Given the description of an element on the screen output the (x, y) to click on. 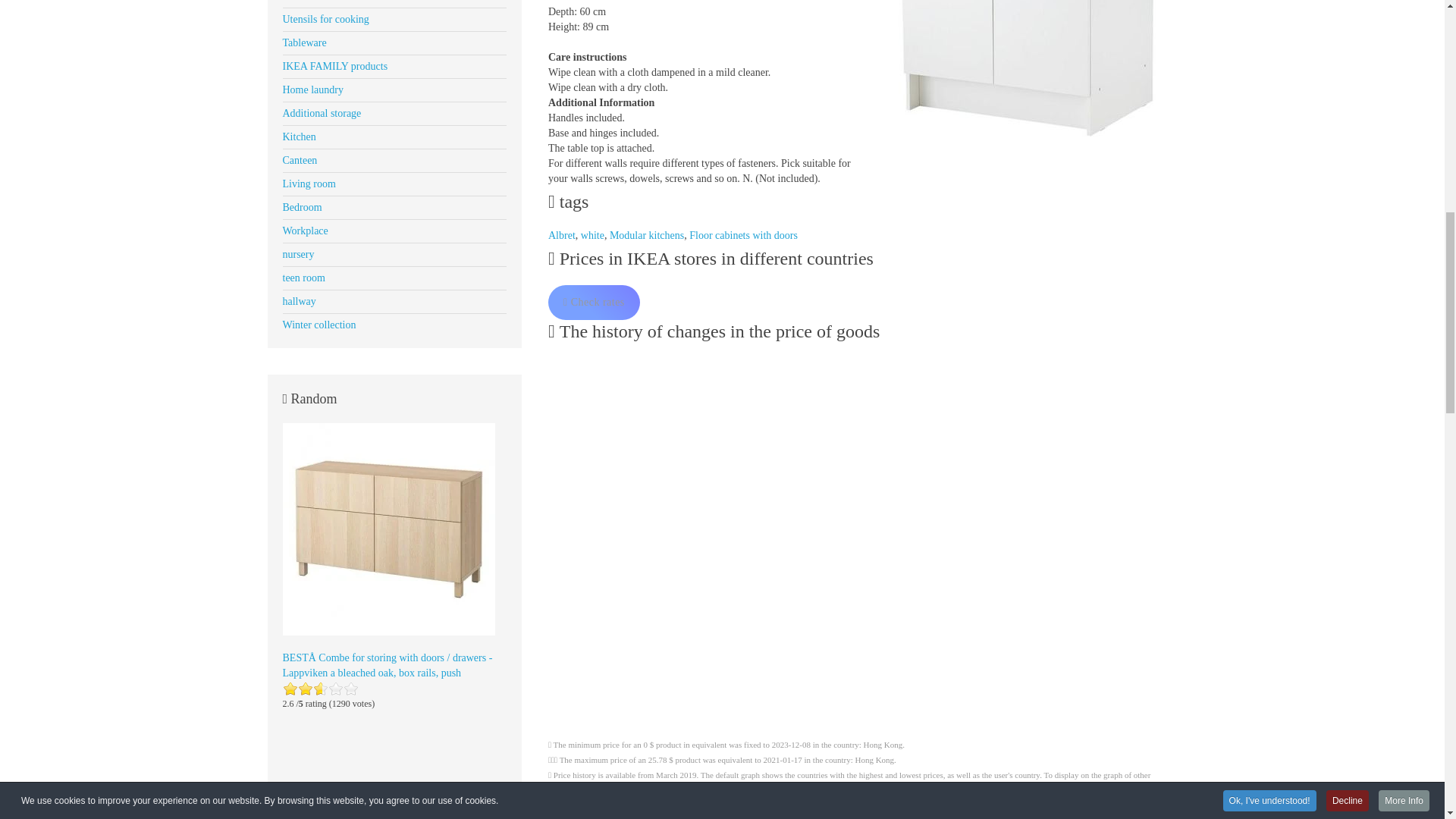
Albret floor cabinets with doors - white (1024, 77)
